Given the description of an element on the screen output the (x, y) to click on. 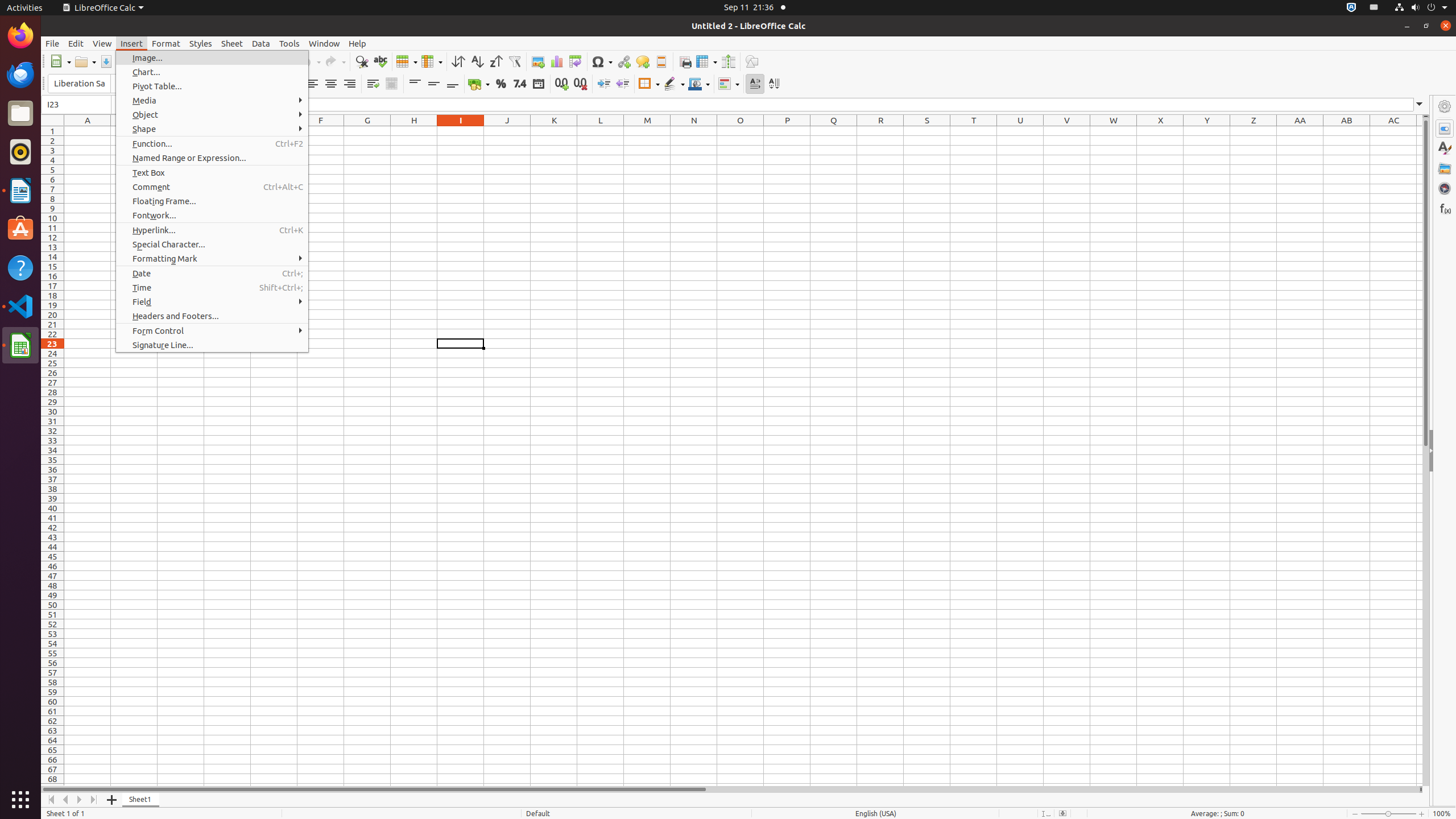
Named Range or Expression... Element type: menu-item (212, 157)
W1 Element type: table-cell (1113, 130)
Sort Element type: push-button (457, 61)
Sort Ascending Element type: push-button (476, 61)
Freeze Rows and Columns Element type: push-button (705, 61)
